Given the description of an element on the screen output the (x, y) to click on. 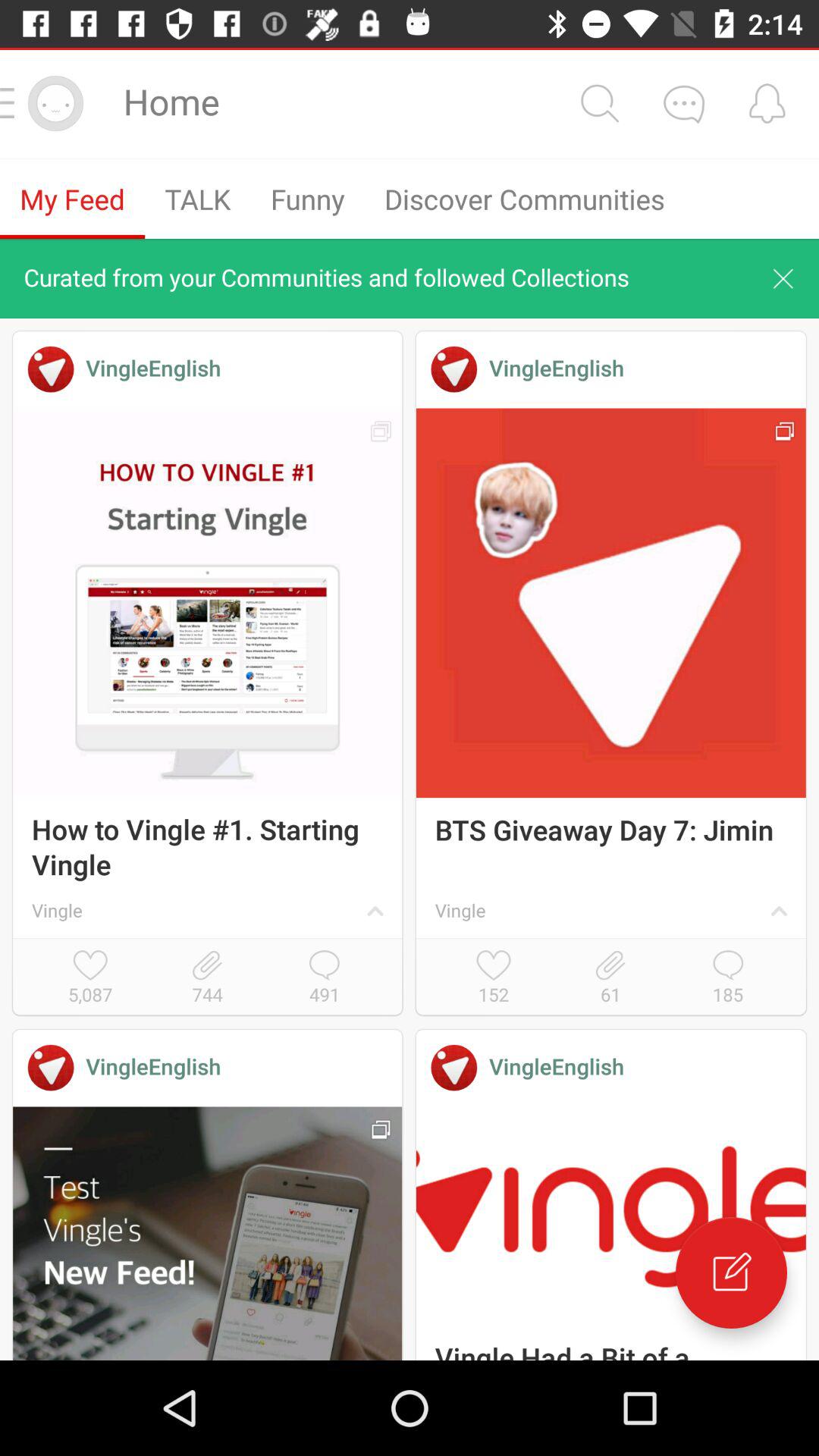
add notification (766, 103)
